Given the description of an element on the screen output the (x, y) to click on. 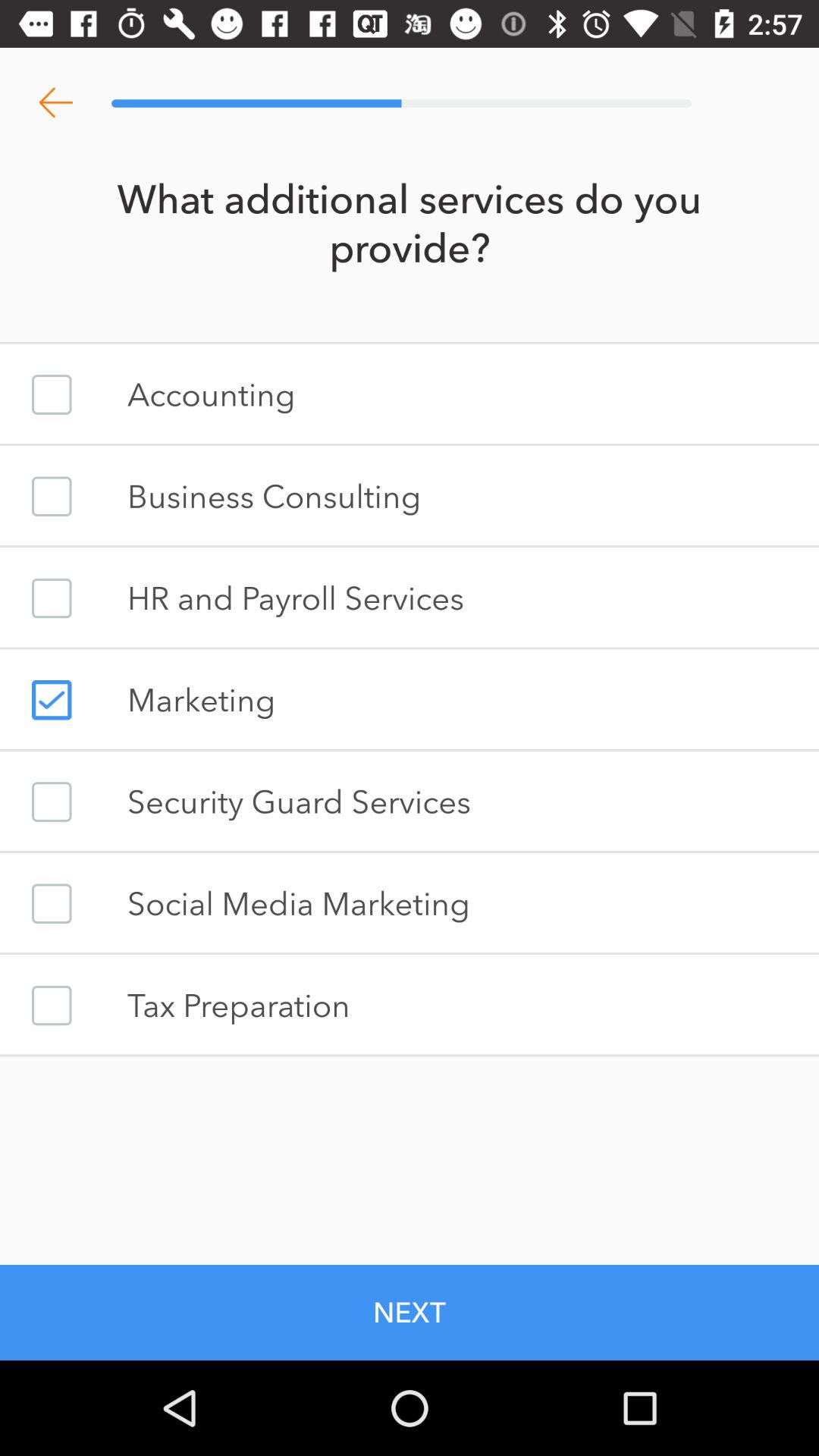
tick box option (51, 496)
